Given the description of an element on the screen output the (x, y) to click on. 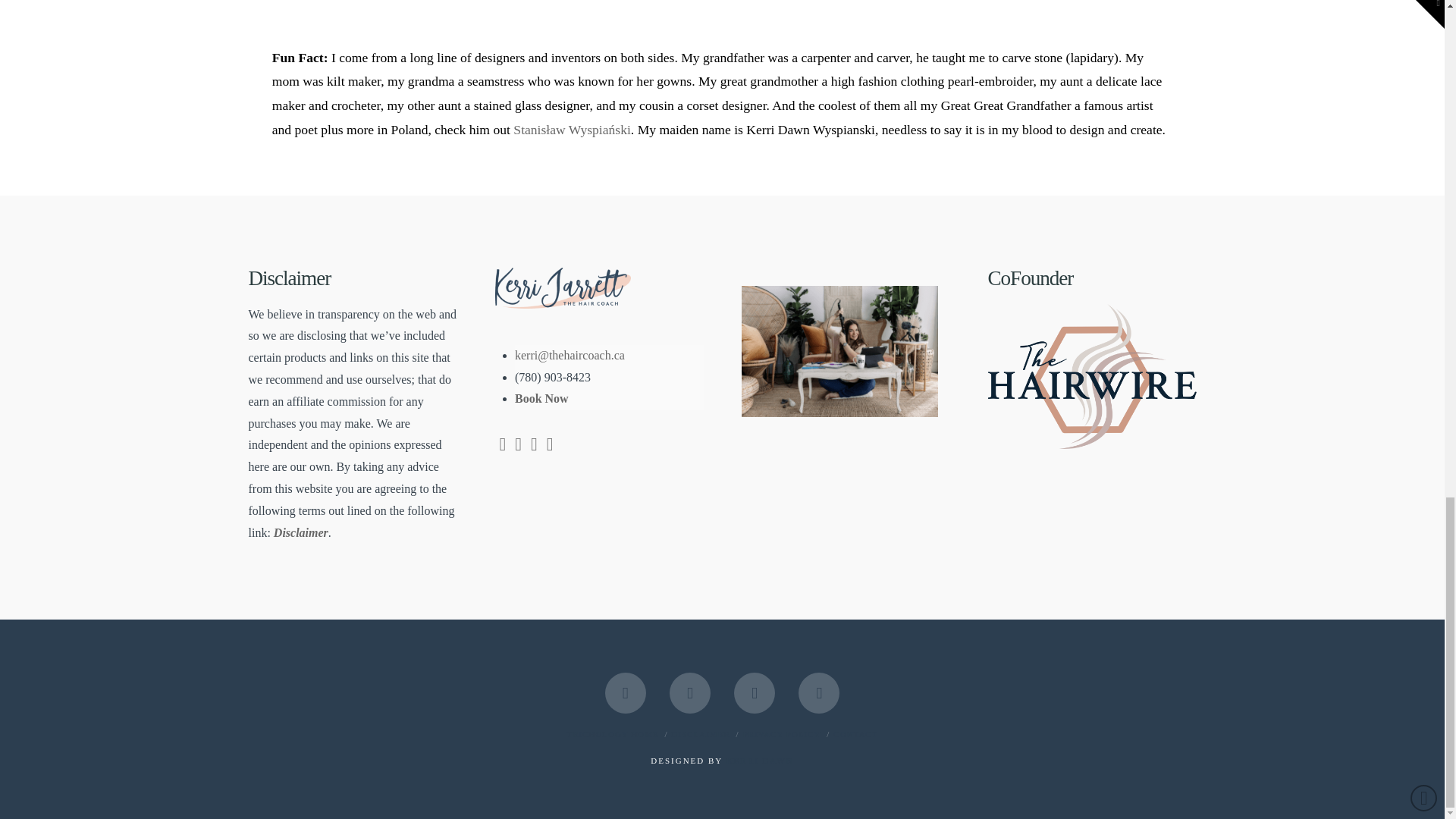
Instagram (818, 692)
Like Terry on Facebook (503, 445)
LinkedIn (689, 692)
Follow Terry on Twitter (518, 445)
YouTube (753, 692)
Facebook (625, 692)
Follow Terry on Twitter (533, 445)
